Given the description of an element on the screen output the (x, y) to click on. 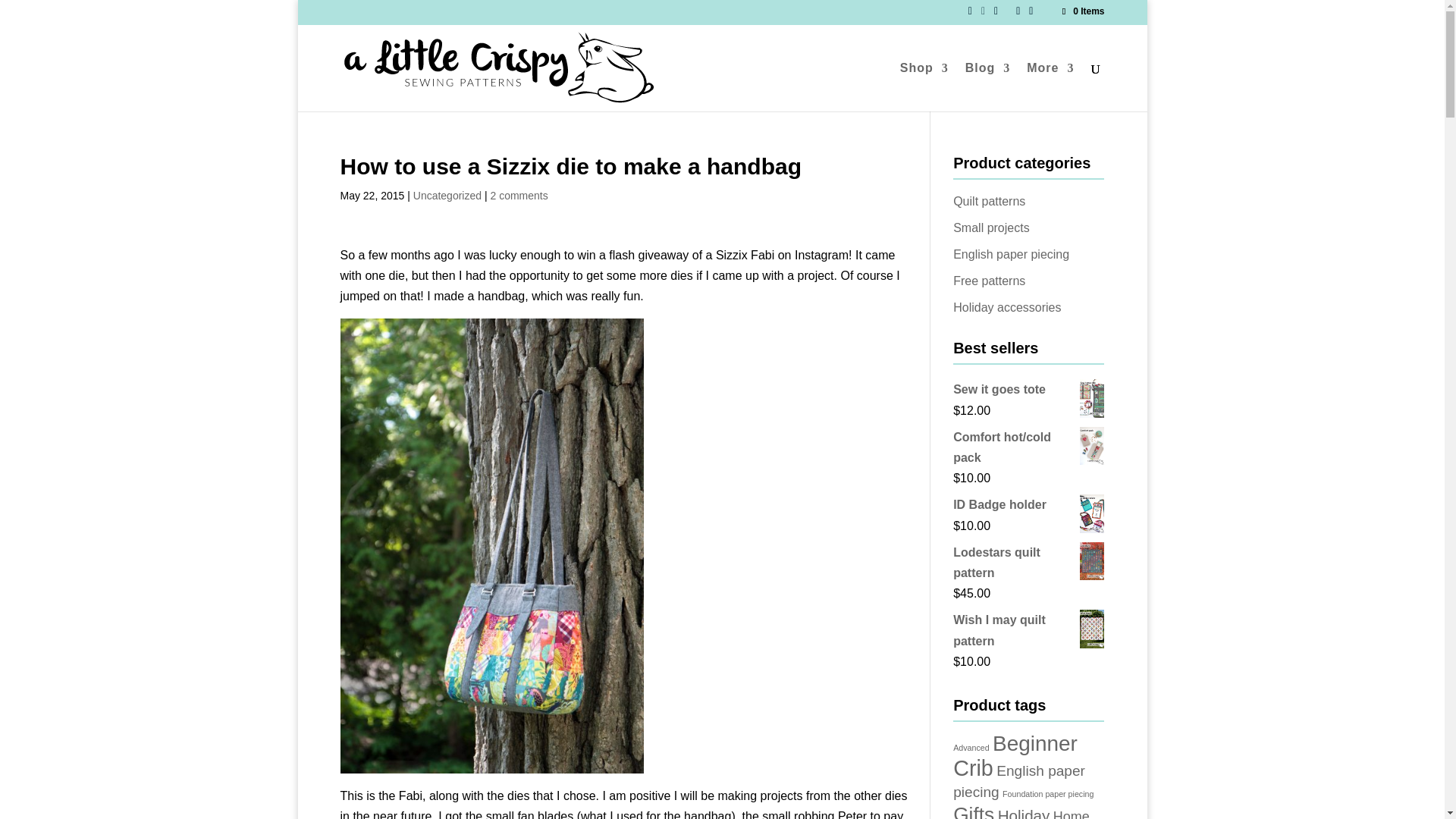
More (1050, 86)
2 comments (518, 195)
Shop (924, 86)
0 Items (1081, 10)
Blog (987, 86)
Uncategorized (447, 195)
